Given the description of an element on the screen output the (x, y) to click on. 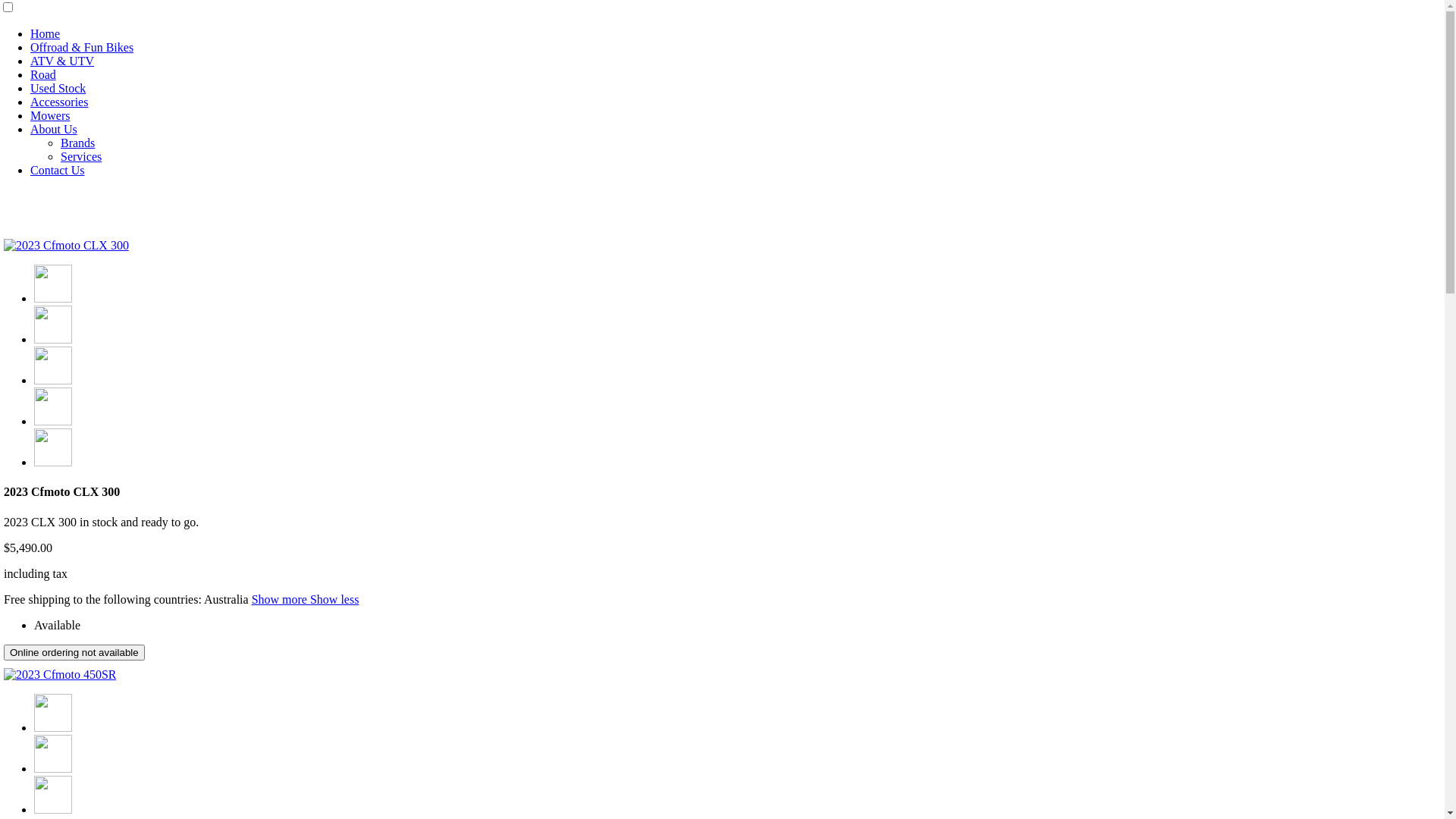
Online ordering not available Element type: text (73, 652)
Used Stock Element type: text (57, 87)
Accessories Element type: text (58, 101)
Offroad & Fun Bikes Element type: text (81, 46)
ATV & UTV Element type: text (62, 60)
Mowers Element type: text (49, 115)
About Us Element type: text (53, 128)
Home Element type: text (44, 33)
Brands Element type: text (77, 142)
Services Element type: text (80, 156)
Road Element type: text (43, 74)
Contact Us Element type: text (57, 169)
Show more Show less Element type: text (305, 599)
